Given the description of an element on the screen output the (x, y) to click on. 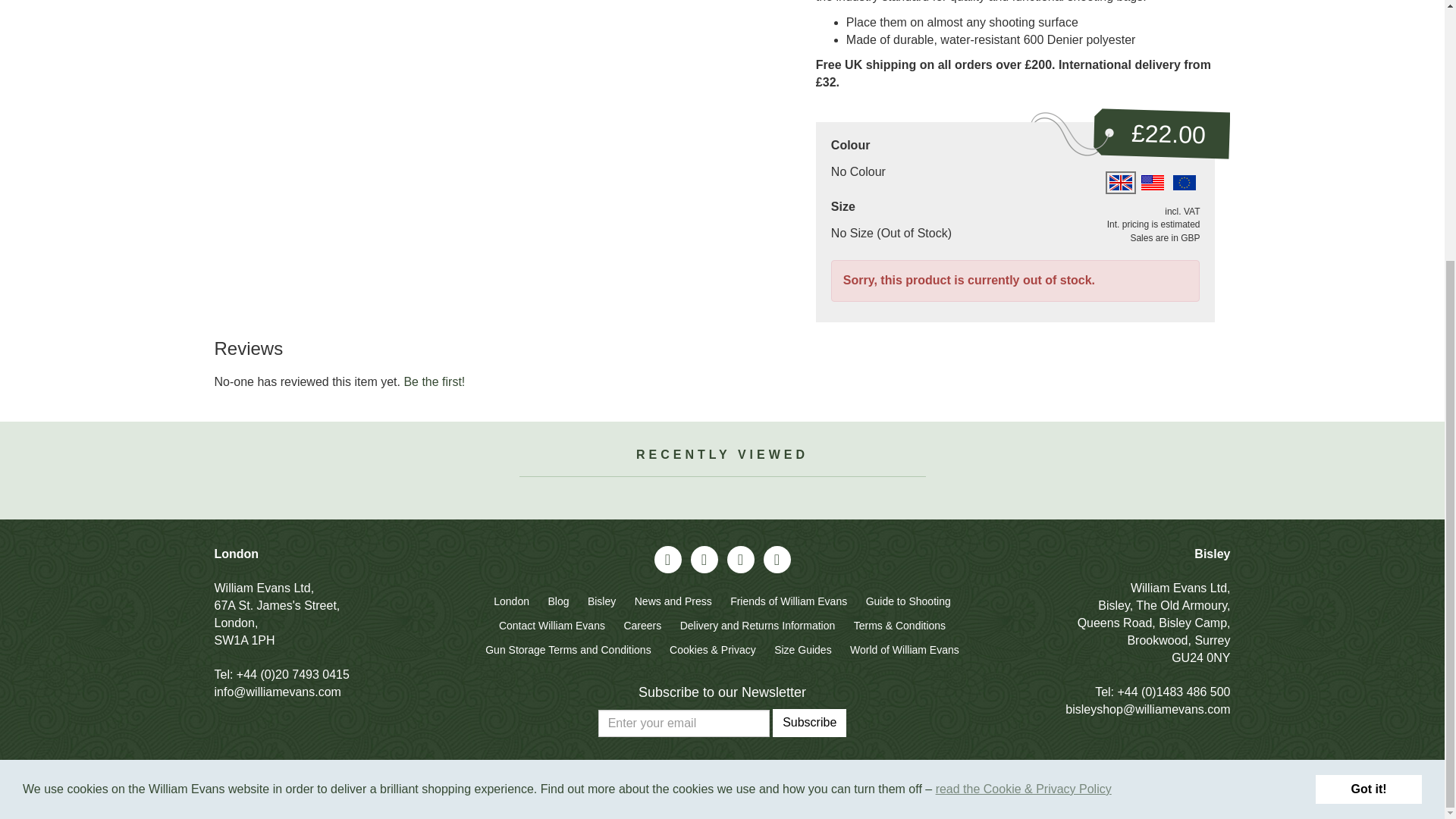
Subscribe (809, 723)
